Given the description of an element on the screen output the (x, y) to click on. 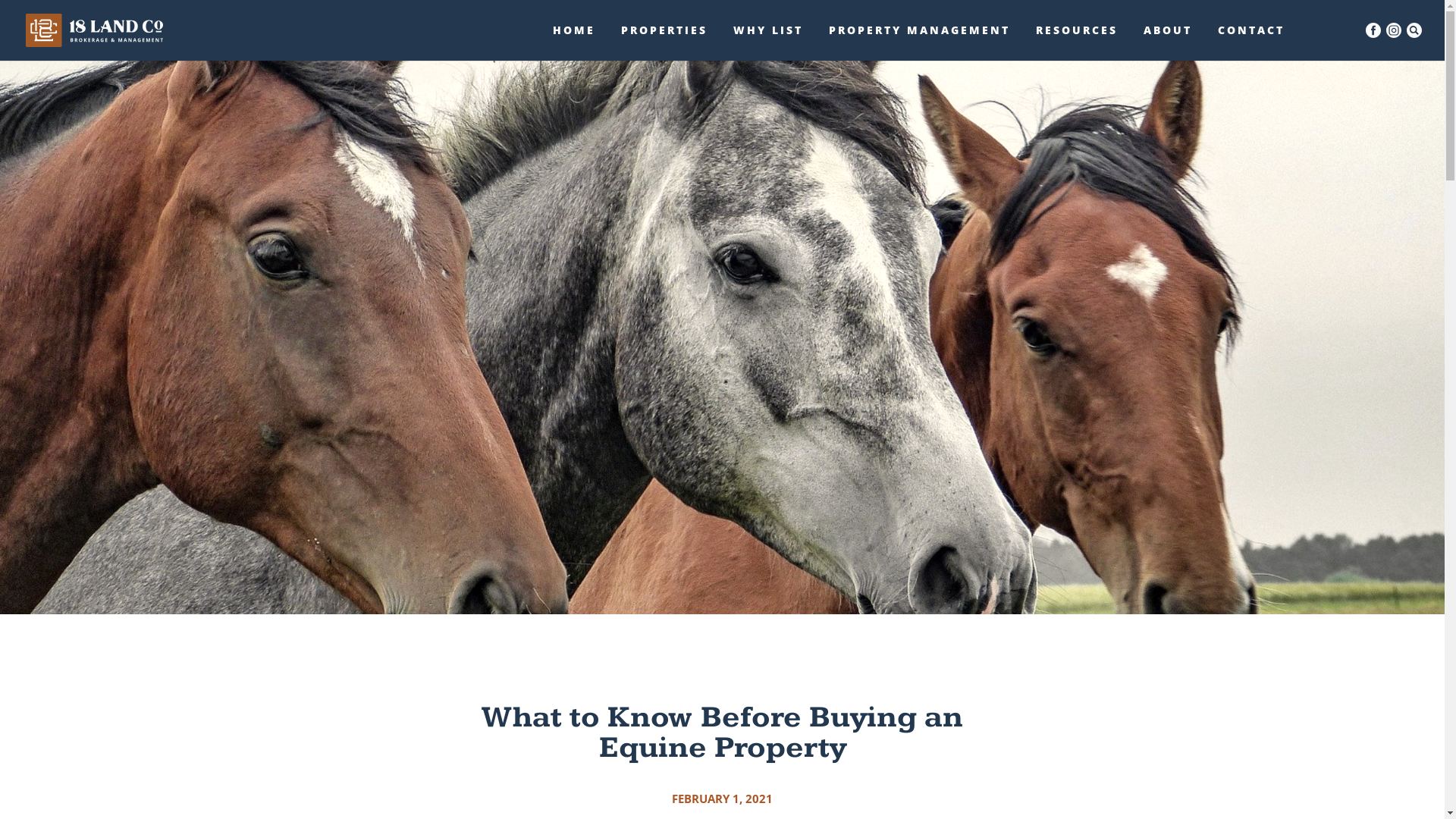
HOME Element type: text (573, 42)
RESOURCES Element type: text (1076, 42)
CONTACT Element type: text (1250, 42)
PROPERTY MANAGEMENT Element type: text (919, 42)
PROPERTIES Element type: text (664, 42)
ABOUT Element type: text (1167, 42)
WHY LIST Element type: text (768, 42)
